Given the description of an element on the screen output the (x, y) to click on. 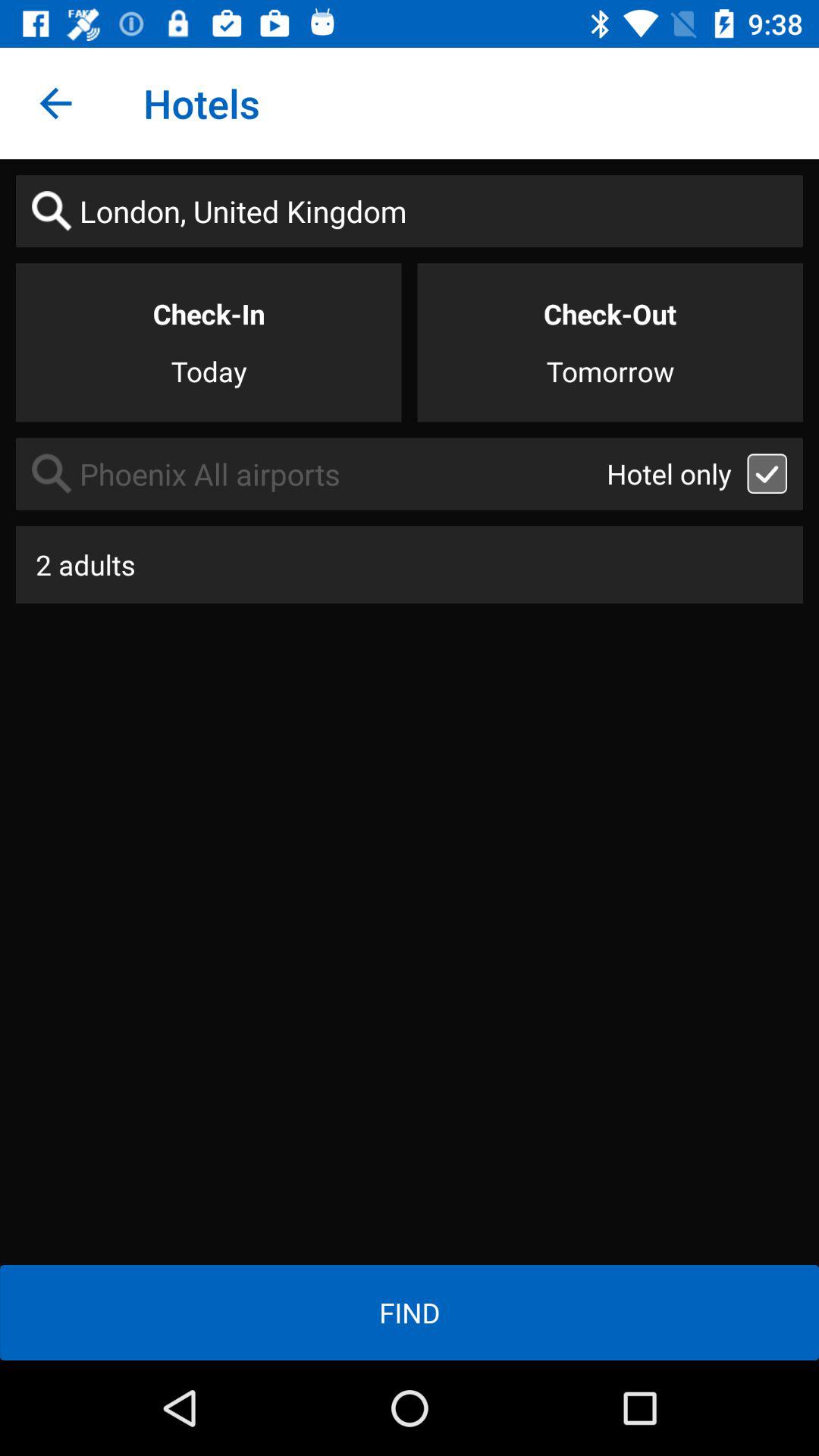
choose the item above the find (409, 564)
